Given the description of an element on the screen output the (x, y) to click on. 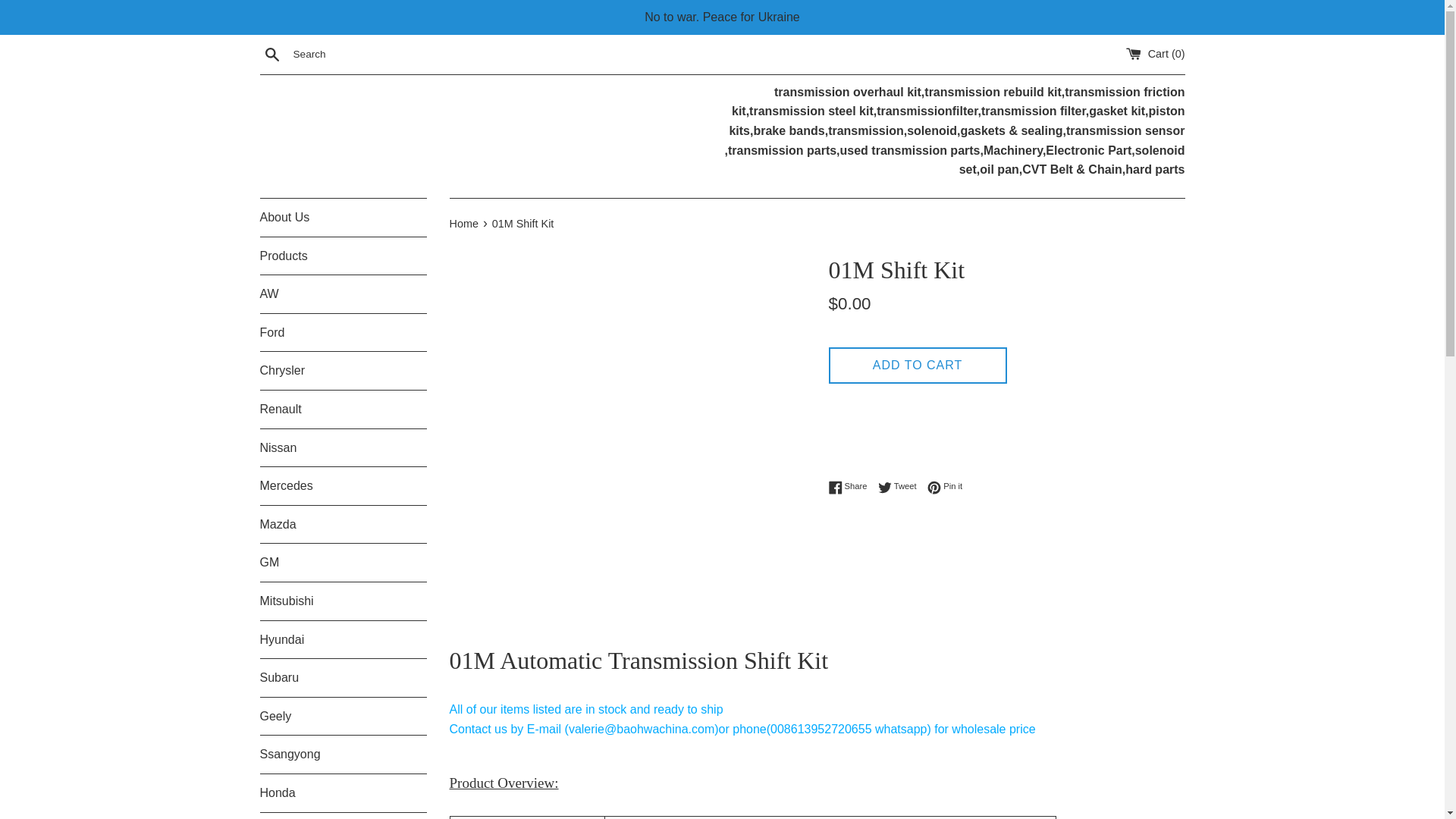
AW (342, 293)
Products (342, 256)
ZF (342, 816)
Tweet on Twitter (900, 486)
Mercedes (342, 485)
Ford (342, 332)
Renault (342, 409)
Back to the frontpage (464, 223)
Mazda (342, 524)
Ssangyong (342, 754)
